Given the description of an element on the screen output the (x, y) to click on. 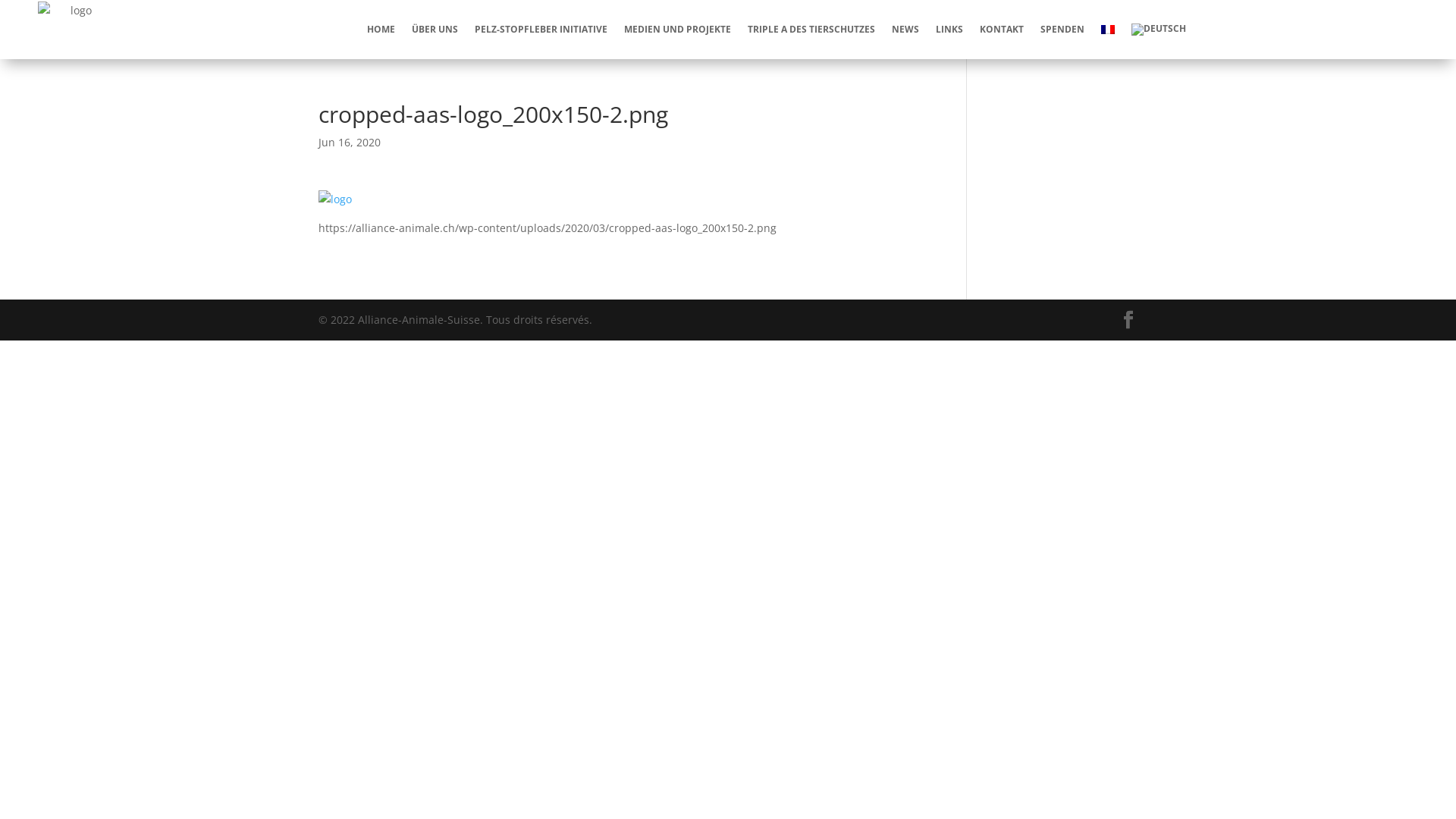
TRIPLE A DES TIERSCHUTZES Element type: text (811, 29)
KONTAKT Element type: text (1001, 29)
SPENDEN Element type: text (1062, 29)
MEDIEN UND PROJEKTE Element type: text (677, 29)
PELZ-STOPFLEBER INITIATIVE Element type: text (540, 29)
LINKS Element type: text (949, 29)
HOME Element type: text (381, 29)
NEWS Element type: text (905, 29)
